Given the description of an element on the screen output the (x, y) to click on. 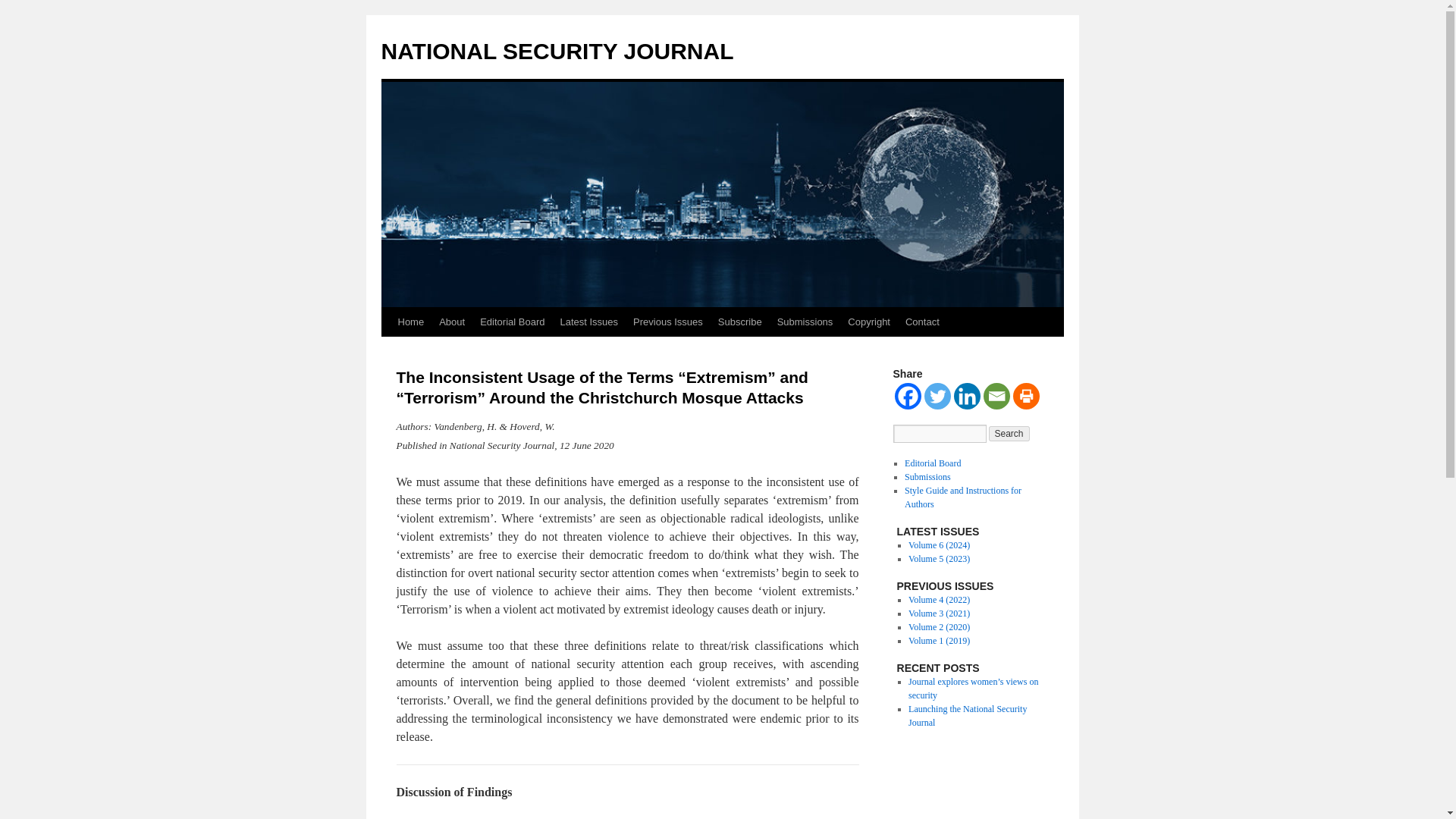
Submissions (927, 476)
Home (410, 321)
Launching the National Security Journal (967, 715)
Editorial Board (932, 462)
Copyright (869, 321)
About (450, 321)
Subscribe (740, 321)
Contact (922, 321)
Email (995, 396)
Latest Issues (588, 321)
